Given the description of an element on the screen output the (x, y) to click on. 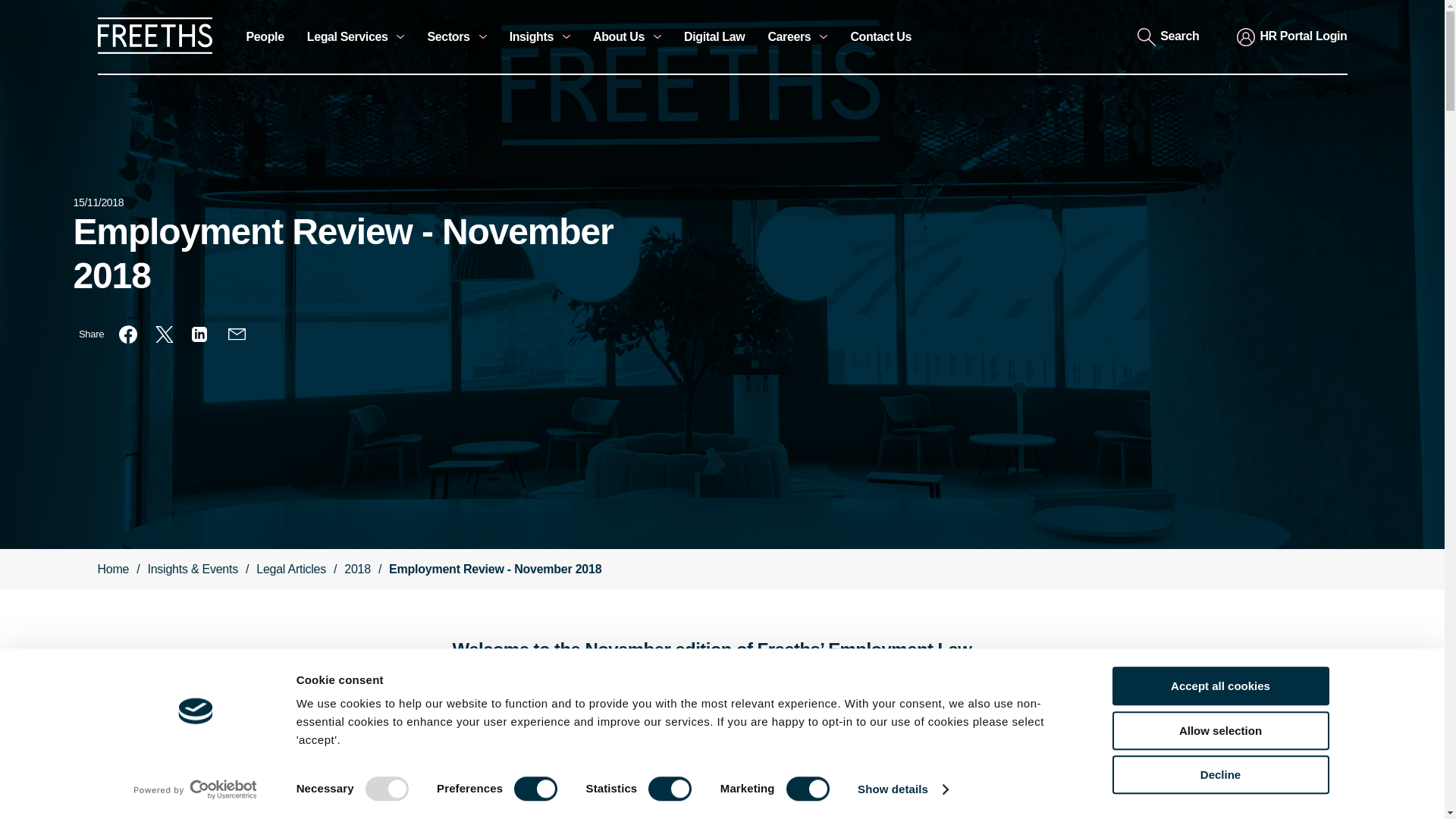
Accept all cookies (1219, 685)
Share via email (236, 334)
Decline (1219, 774)
Share via X (163, 334)
Share (90, 334)
Share via Facebook (127, 334)
Share via LinkedIn (200, 334)
Show details (902, 789)
Allow selection (1219, 730)
Go to homepage (154, 49)
